Given the description of an element on the screen output the (x, y) to click on. 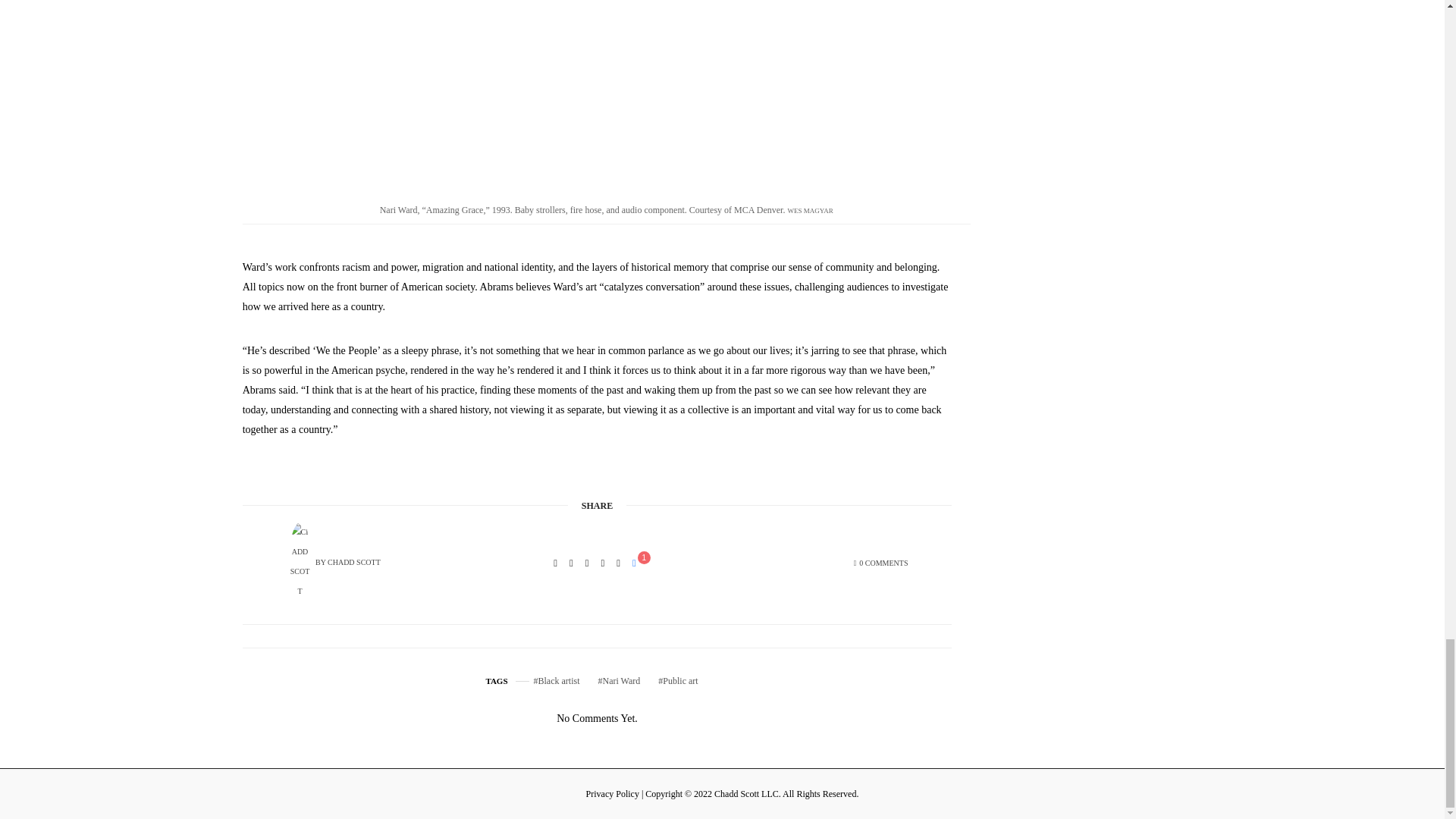
Posts by Chadd Scott (353, 561)
